Given the description of an element on the screen output the (x, y) to click on. 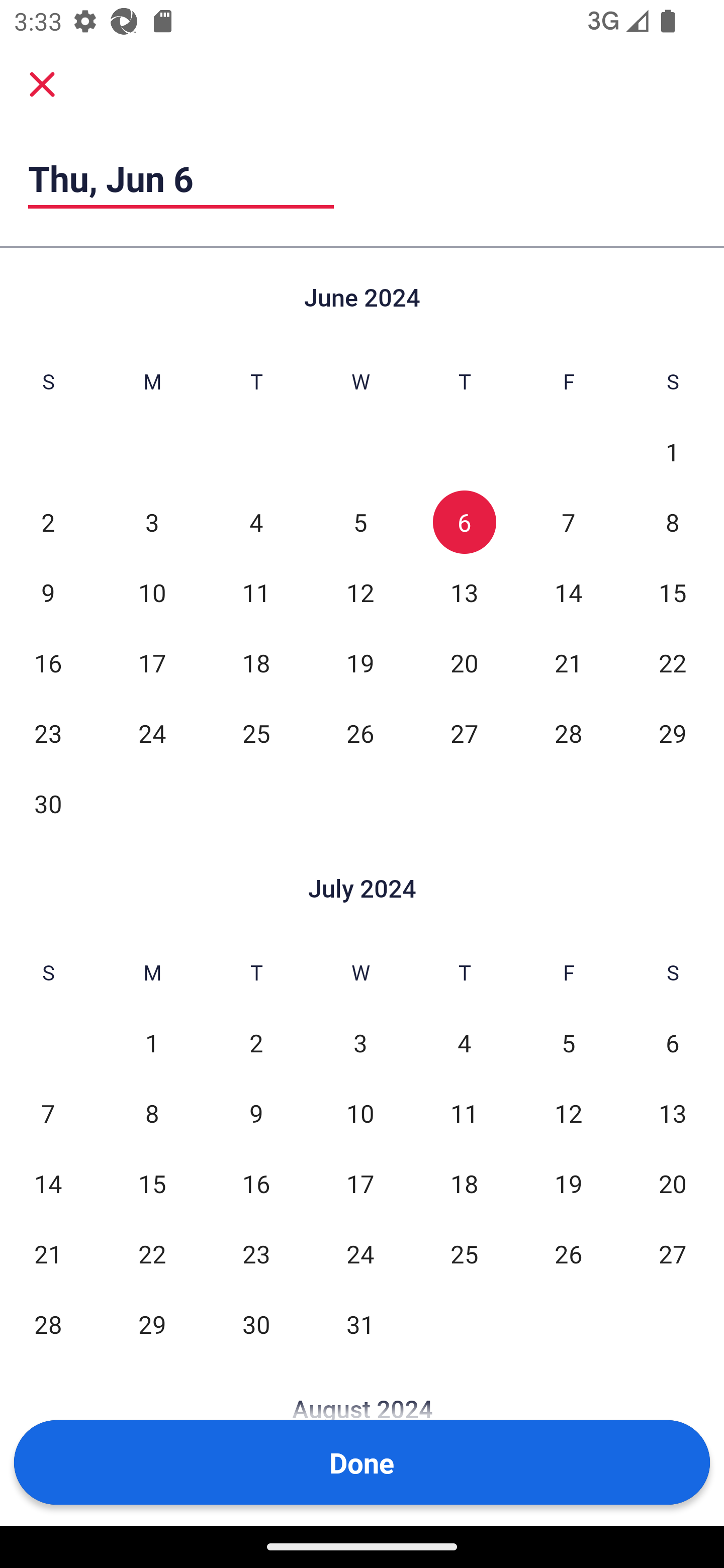
Cancel (41, 83)
Thu, Jun 6 (180, 178)
1 Sat, Jun 1, Not Selected (672, 452)
2 Sun, Jun 2, Not Selected (48, 521)
3 Mon, Jun 3, Not Selected (152, 521)
4 Tue, Jun 4, Not Selected (256, 521)
5 Wed, Jun 5, Not Selected (360, 521)
6 Thu, Jun 6, Selected (464, 521)
7 Fri, Jun 7, Not Selected (568, 521)
8 Sat, Jun 8, Not Selected (672, 521)
9 Sun, Jun 9, Not Selected (48, 591)
10 Mon, Jun 10, Not Selected (152, 591)
11 Tue, Jun 11, Not Selected (256, 591)
12 Wed, Jun 12, Not Selected (360, 591)
13 Thu, Jun 13, Not Selected (464, 591)
14 Fri, Jun 14, Not Selected (568, 591)
15 Sat, Jun 15, Not Selected (672, 591)
16 Sun, Jun 16, Not Selected (48, 662)
17 Mon, Jun 17, Not Selected (152, 662)
18 Tue, Jun 18, Not Selected (256, 662)
19 Wed, Jun 19, Not Selected (360, 662)
20 Thu, Jun 20, Not Selected (464, 662)
21 Fri, Jun 21, Not Selected (568, 662)
22 Sat, Jun 22, Not Selected (672, 662)
23 Sun, Jun 23, Not Selected (48, 732)
24 Mon, Jun 24, Not Selected (152, 732)
25 Tue, Jun 25, Not Selected (256, 732)
26 Wed, Jun 26, Not Selected (360, 732)
27 Thu, Jun 27, Not Selected (464, 732)
28 Fri, Jun 28, Not Selected (568, 732)
29 Sat, Jun 29, Not Selected (672, 732)
30 Sun, Jun 30, Not Selected (48, 803)
1 Mon, Jul 1, Not Selected (152, 1043)
2 Tue, Jul 2, Not Selected (256, 1043)
3 Wed, Jul 3, Not Selected (360, 1043)
4 Thu, Jul 4, Not Selected (464, 1043)
5 Fri, Jul 5, Not Selected (568, 1043)
6 Sat, Jul 6, Not Selected (672, 1043)
7 Sun, Jul 7, Not Selected (48, 1112)
8 Mon, Jul 8, Not Selected (152, 1112)
9 Tue, Jul 9, Not Selected (256, 1112)
10 Wed, Jul 10, Not Selected (360, 1112)
11 Thu, Jul 11, Not Selected (464, 1112)
12 Fri, Jul 12, Not Selected (568, 1112)
13 Sat, Jul 13, Not Selected (672, 1112)
14 Sun, Jul 14, Not Selected (48, 1182)
15 Mon, Jul 15, Not Selected (152, 1182)
16 Tue, Jul 16, Not Selected (256, 1182)
17 Wed, Jul 17, Not Selected (360, 1182)
18 Thu, Jul 18, Not Selected (464, 1182)
19 Fri, Jul 19, Not Selected (568, 1182)
20 Sat, Jul 20, Not Selected (672, 1182)
21 Sun, Jul 21, Not Selected (48, 1253)
22 Mon, Jul 22, Not Selected (152, 1253)
23 Tue, Jul 23, Not Selected (256, 1253)
24 Wed, Jul 24, Not Selected (360, 1253)
25 Thu, Jul 25, Not Selected (464, 1253)
26 Fri, Jul 26, Not Selected (568, 1253)
27 Sat, Jul 27, Not Selected (672, 1253)
28 Sun, Jul 28, Not Selected (48, 1323)
29 Mon, Jul 29, Not Selected (152, 1323)
30 Tue, Jul 30, Not Selected (256, 1323)
31 Wed, Jul 31, Not Selected (360, 1323)
Done Button Done (361, 1462)
